Given the description of an element on the screen output the (x, y) to click on. 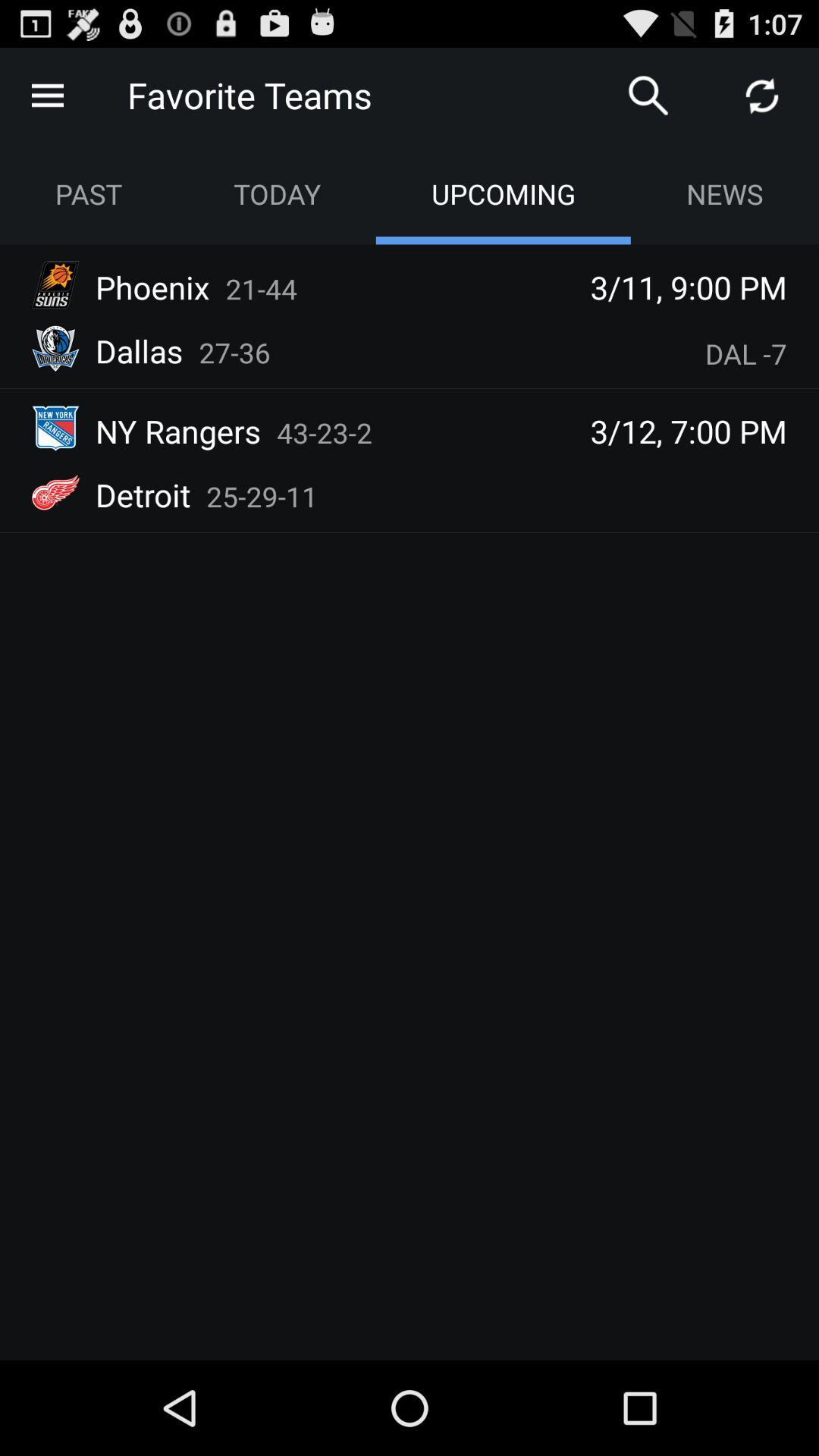
search for team (648, 95)
